Given the description of an element on the screen output the (x, y) to click on. 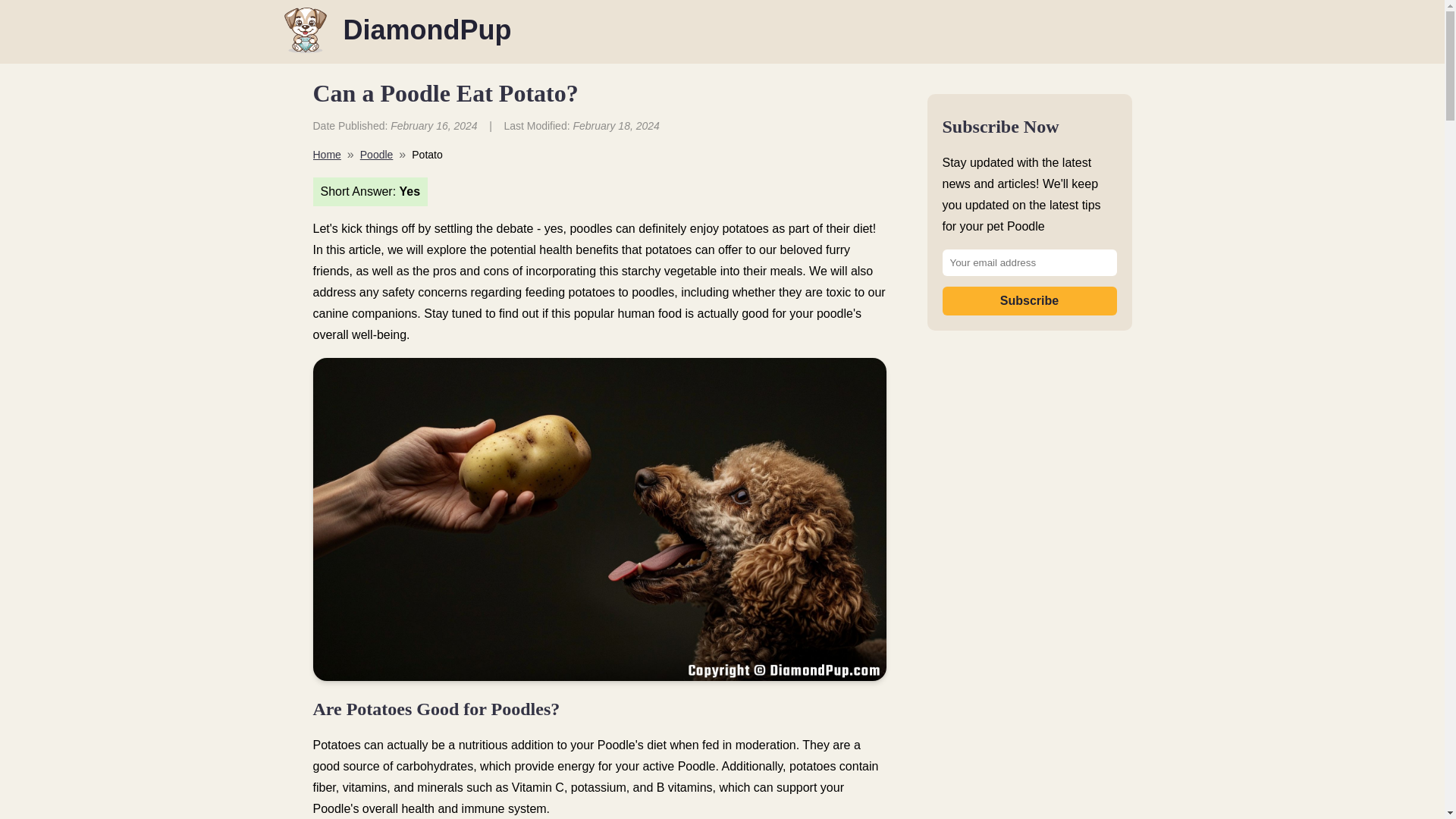
Subscribe (1029, 300)
Poodle (376, 154)
DiamondPup (426, 31)
Home (326, 154)
